Given the description of an element on the screen output the (x, y) to click on. 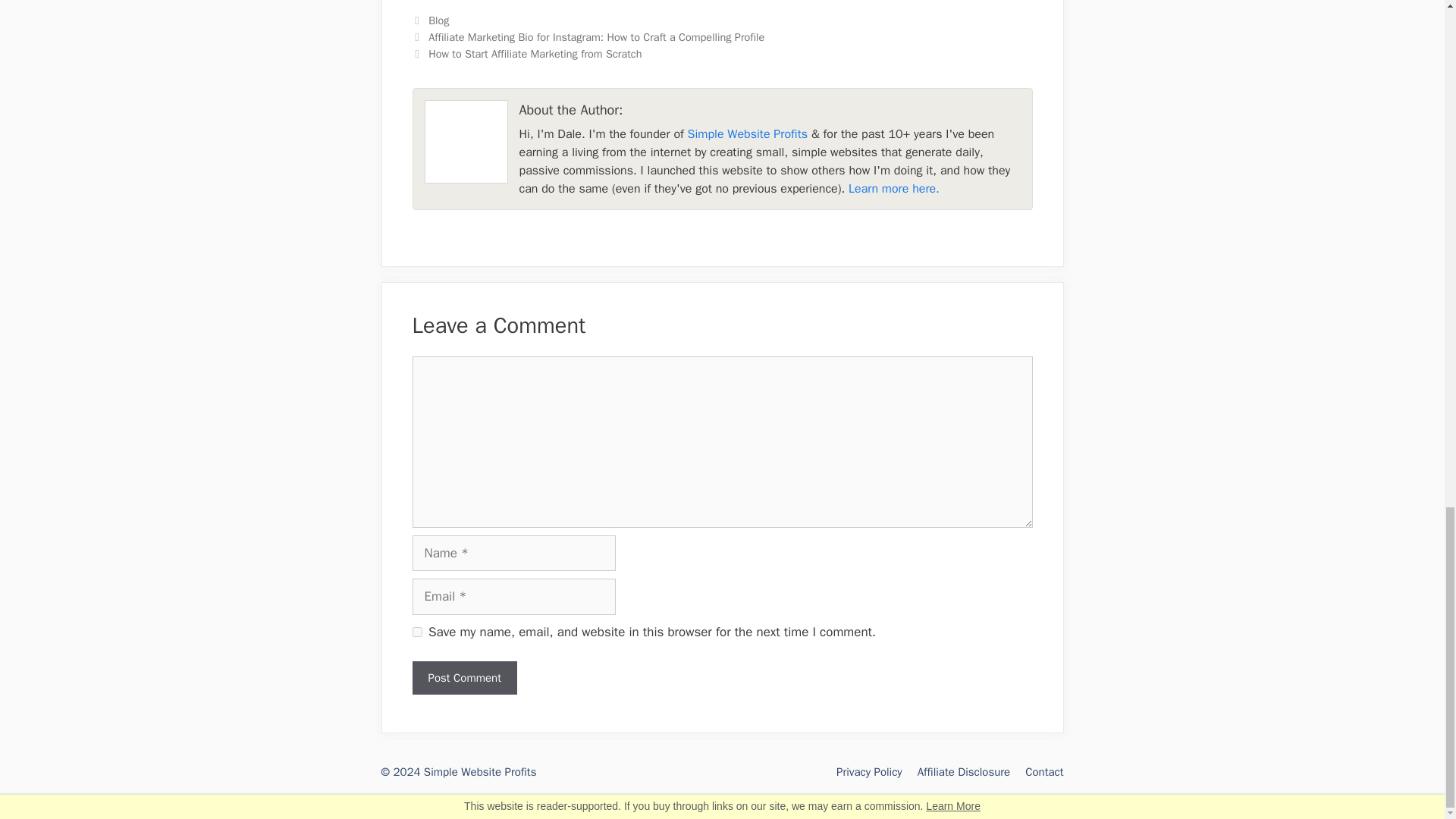
Post Comment (464, 677)
Simple Website Profits (747, 133)
How to Start Affiliate Marketing from Scratch (535, 53)
yes (417, 632)
Learn more here. (893, 188)
Post Comment (464, 677)
Affiliate Disclosure (963, 771)
Privacy Policy (868, 771)
Blog (438, 20)
